Given the description of an element on the screen output the (x, y) to click on. 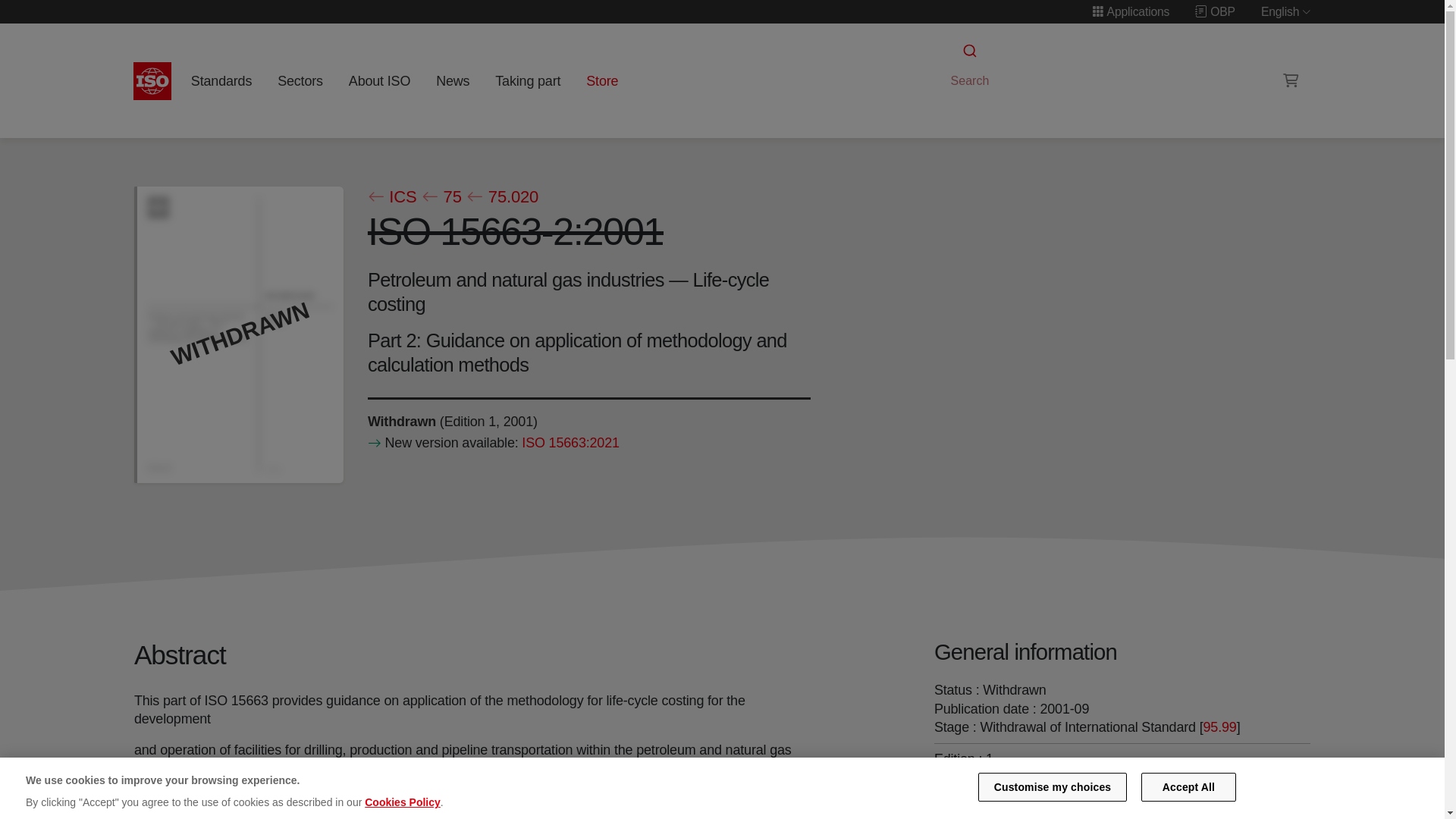
Shopping cart (1290, 80)
About ISO (379, 80)
Store (601, 80)
Oil and gas industries including lower carbon energy (1100, 809)
Submit (968, 51)
75.020 (501, 197)
Life cycle (400, 420)
95.99 (1220, 726)
75 (441, 197)
Withdrawn (400, 420)
ISO's applications portal (1130, 11)
ISO 15663:2021 (569, 442)
